Given the description of an element on the screen output the (x, y) to click on. 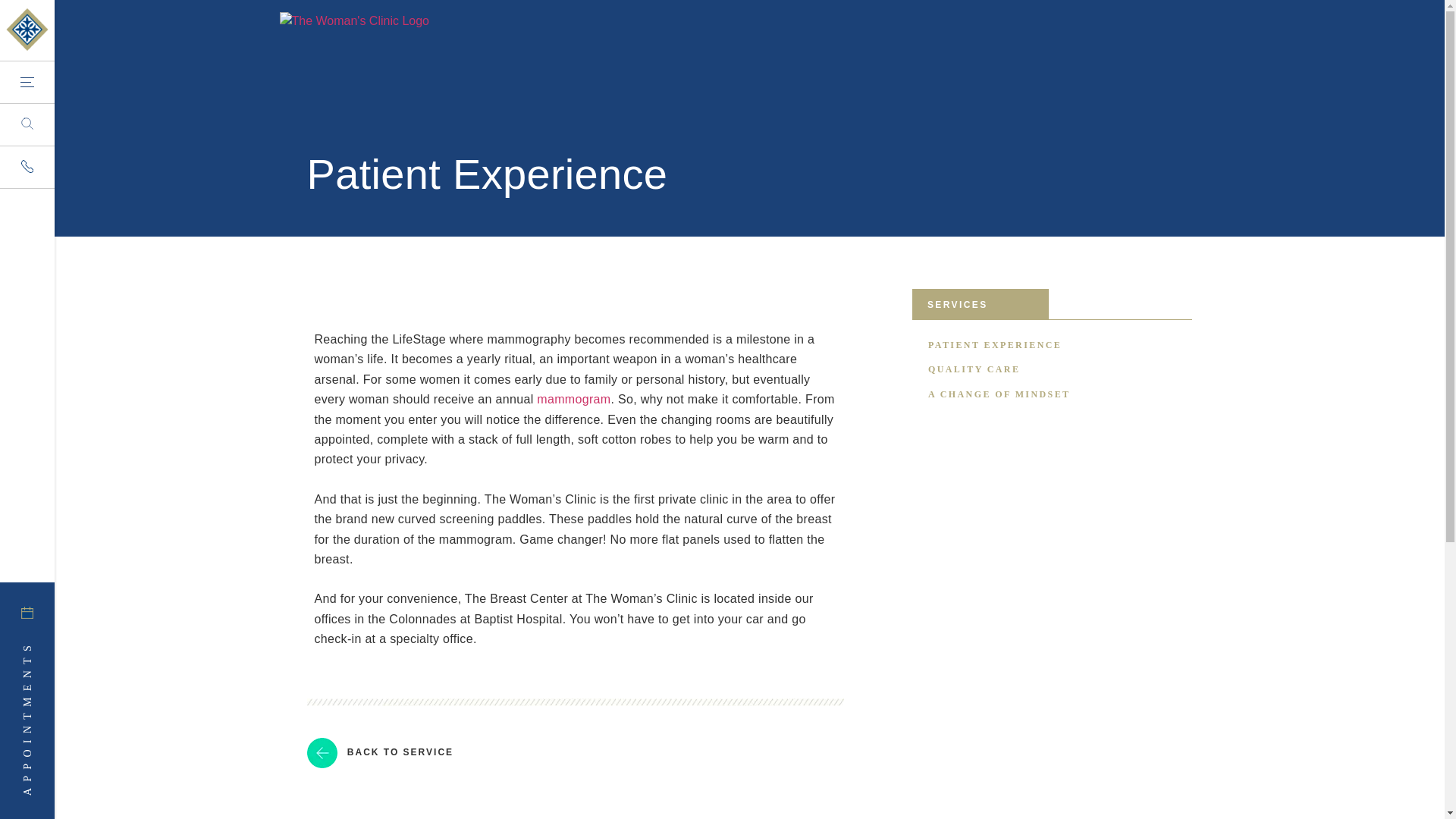
BACK TO SERVICE (378, 751)
QUALITY CARE (974, 368)
PATIENT EXPERIENCE (994, 344)
A CHANGE OF MINDSET (999, 394)
mammogram (573, 399)
